Given the description of an element on the screen output the (x, y) to click on. 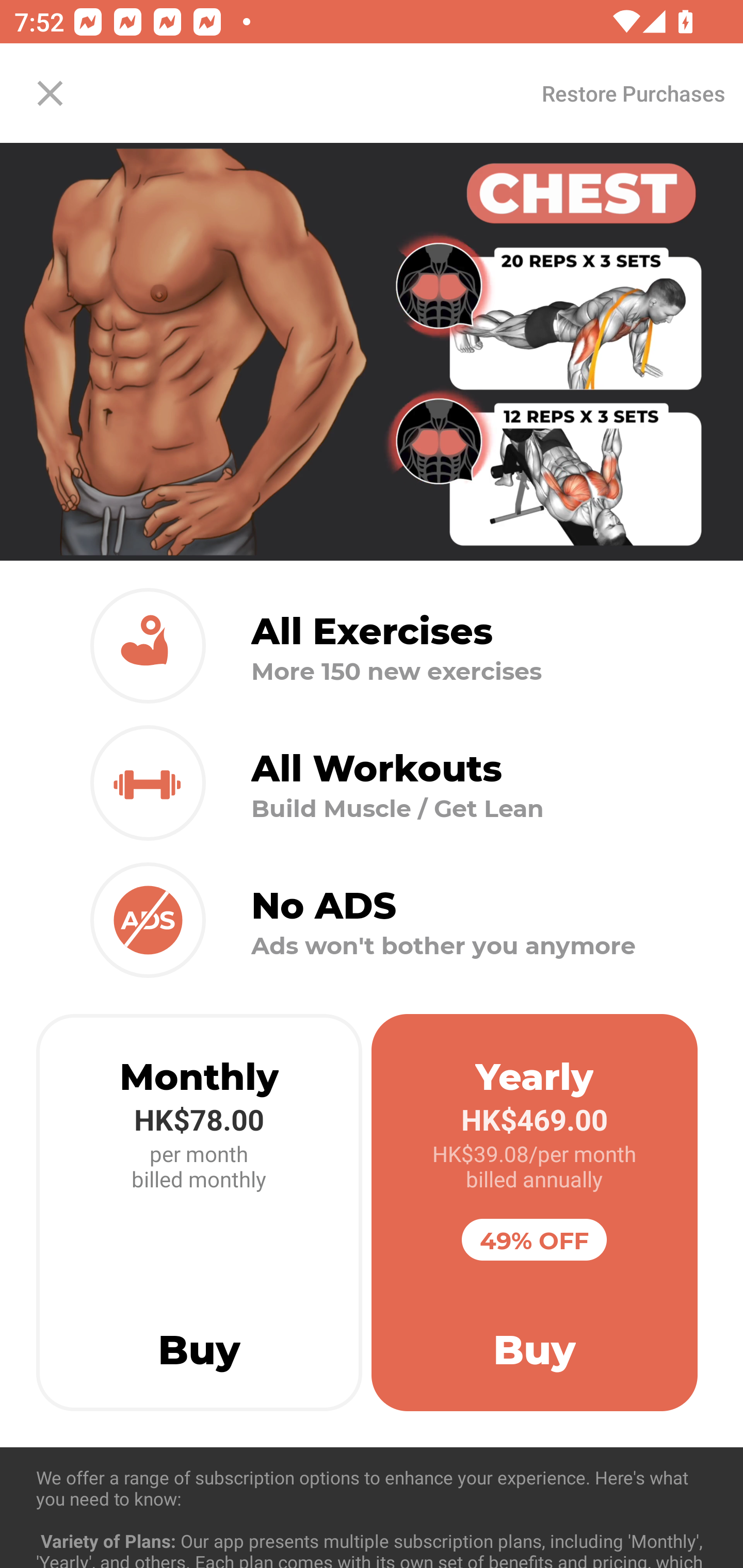
Restore Purchases (632, 92)
Monthly HK$78.00 per month
billed monthly Buy (199, 1212)
